Given the description of an element on the screen output the (x, y) to click on. 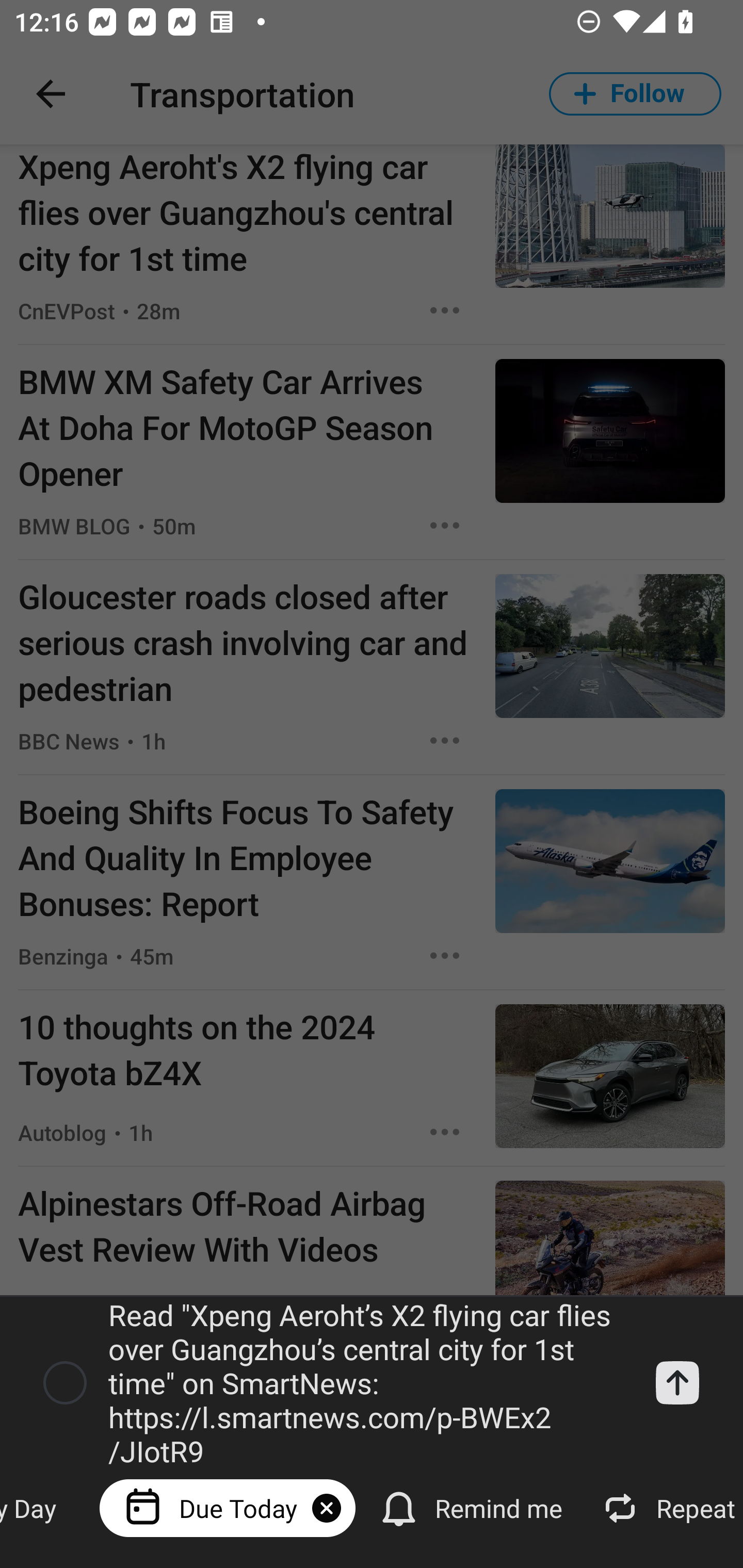
Add a task (676, 1382)
Due Today Remove due date (227, 1507)
Remind me (473, 1507)
Repeat (667, 1507)
Remove due date (326, 1508)
